Given the description of an element on the screen output the (x, y) to click on. 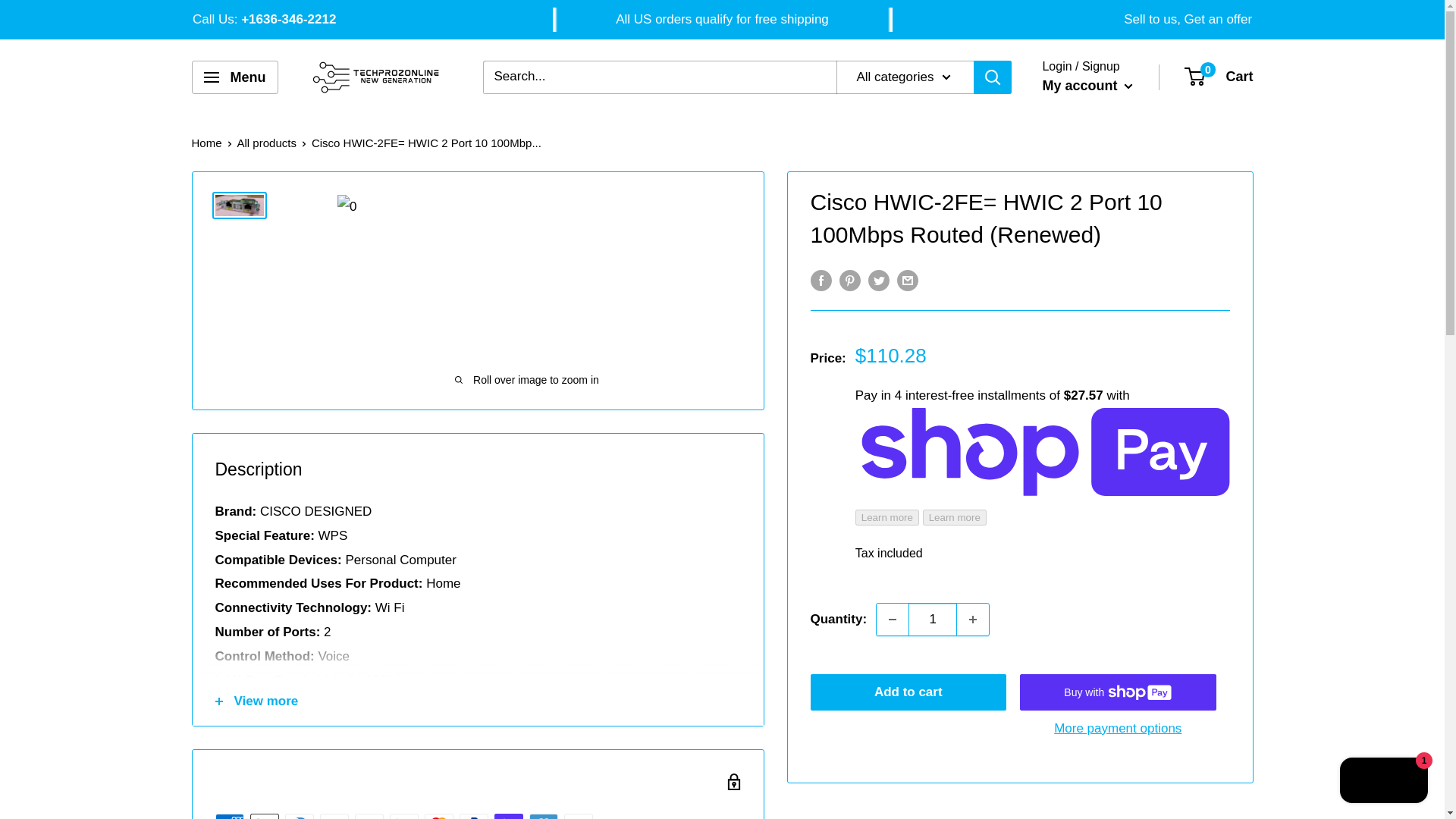
Menu (234, 77)
1 (932, 619)
Sell to us, Get an offer (1188, 19)
Decrease quantity by 1 (892, 619)
Shopify online store chat (1383, 781)
Increase quantity by 1 (972, 619)
